Given the description of an element on the screen output the (x, y) to click on. 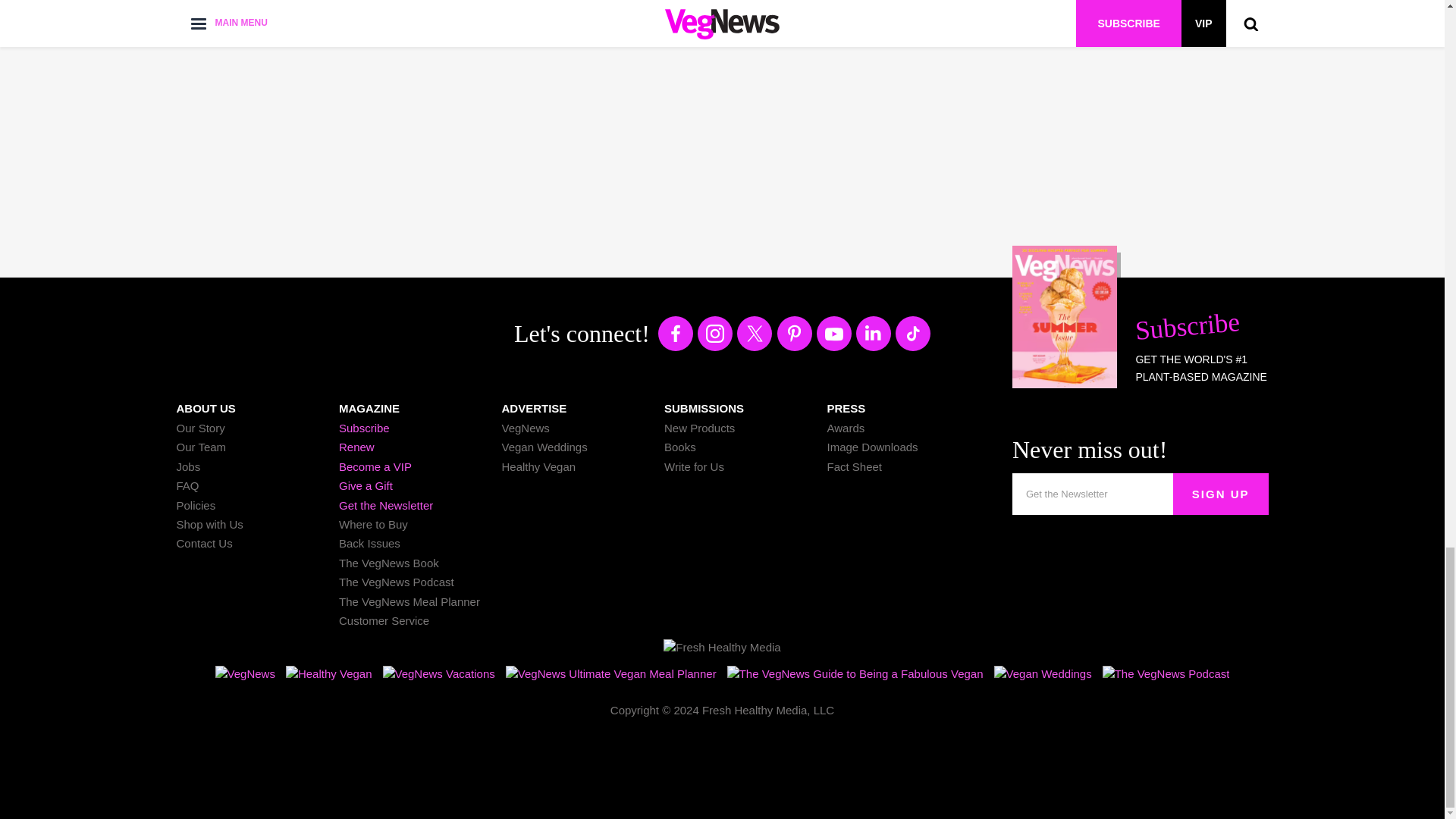
Sign Up (1220, 494)
